Given the description of an element on the screen output the (x, y) to click on. 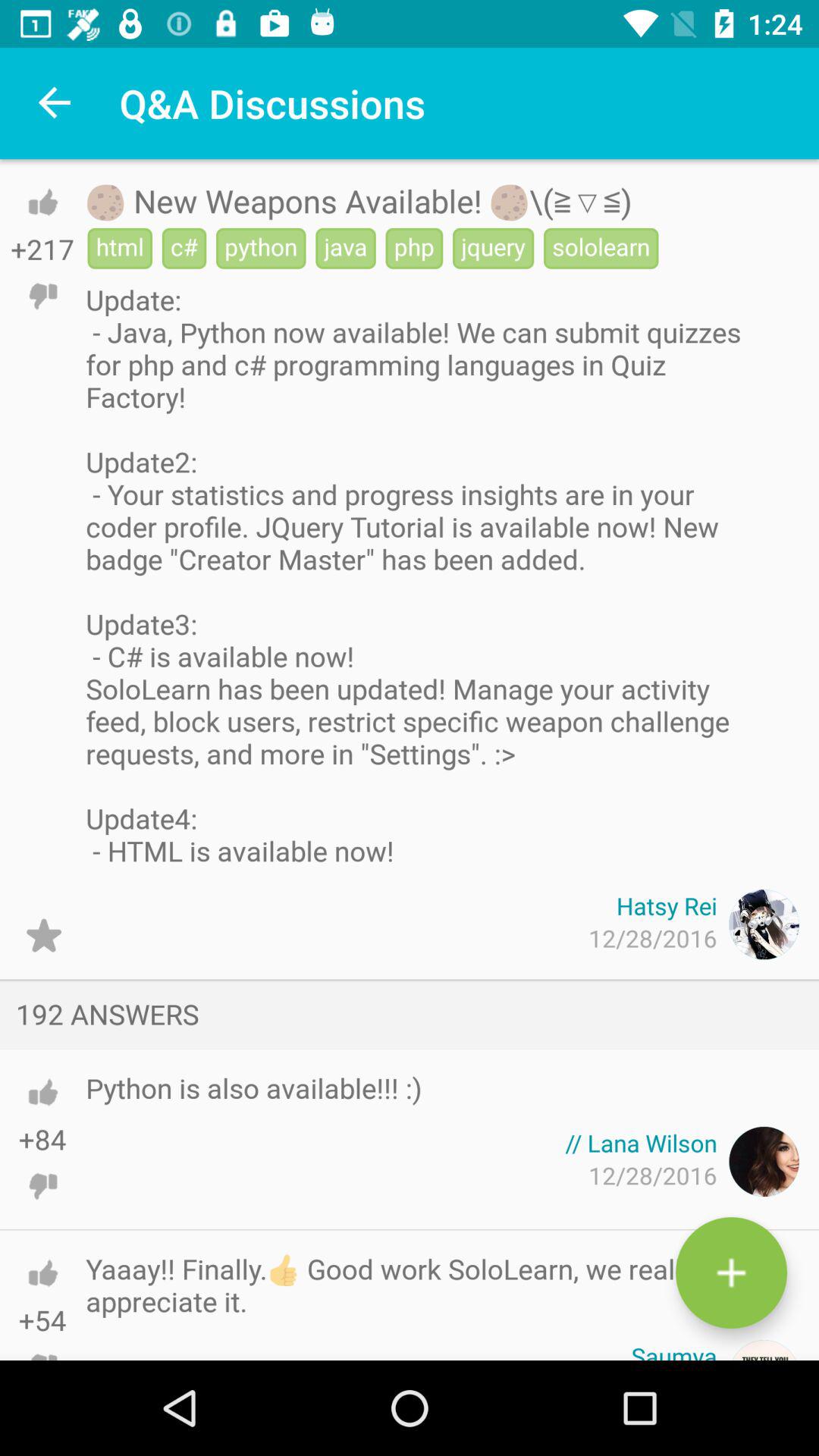
turn off the icon above the 192 answers (43, 935)
